Given the description of an element on the screen output the (x, y) to click on. 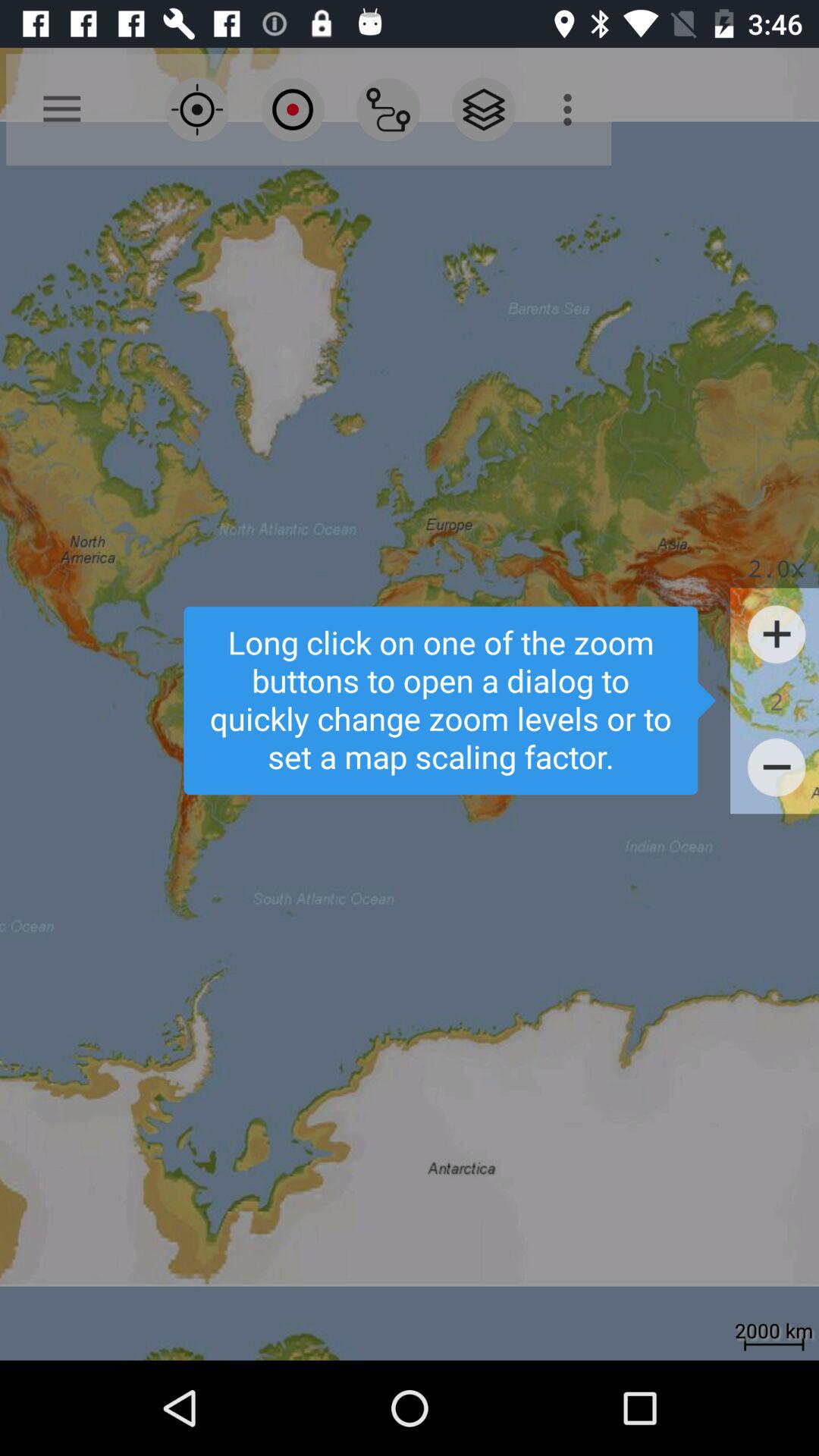
select the symbol which is to the second right of menu button (292, 109)
click on the icon which is on the left side of more options icon (483, 109)
click on minus icon (776, 767)
click on the current location icon (196, 109)
